Given the description of an element on the screen output the (x, y) to click on. 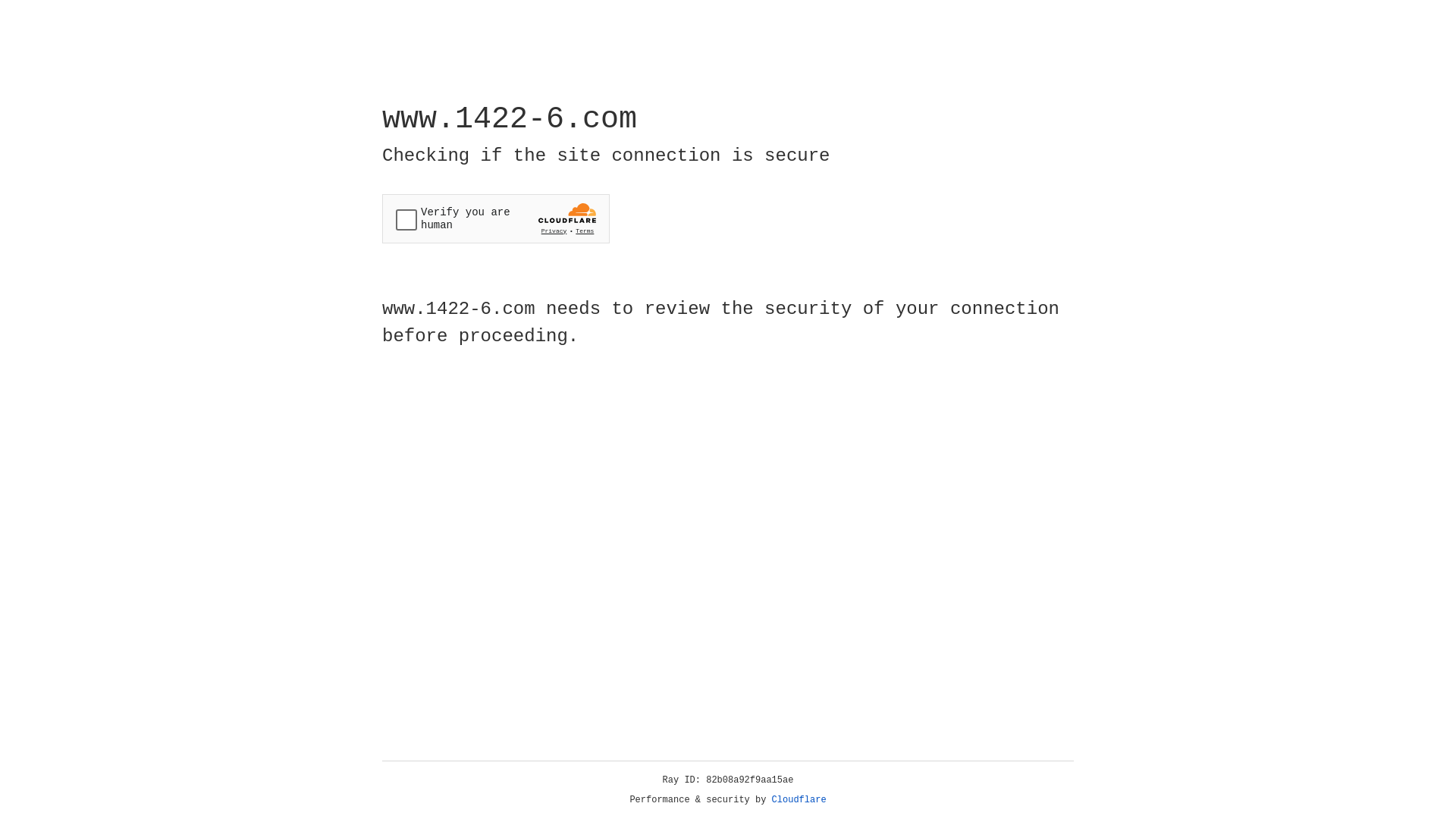
Cloudflare Element type: text (798, 799)
Widget containing a Cloudflare security challenge Element type: hover (495, 218)
